Given the description of an element on the screen output the (x, y) to click on. 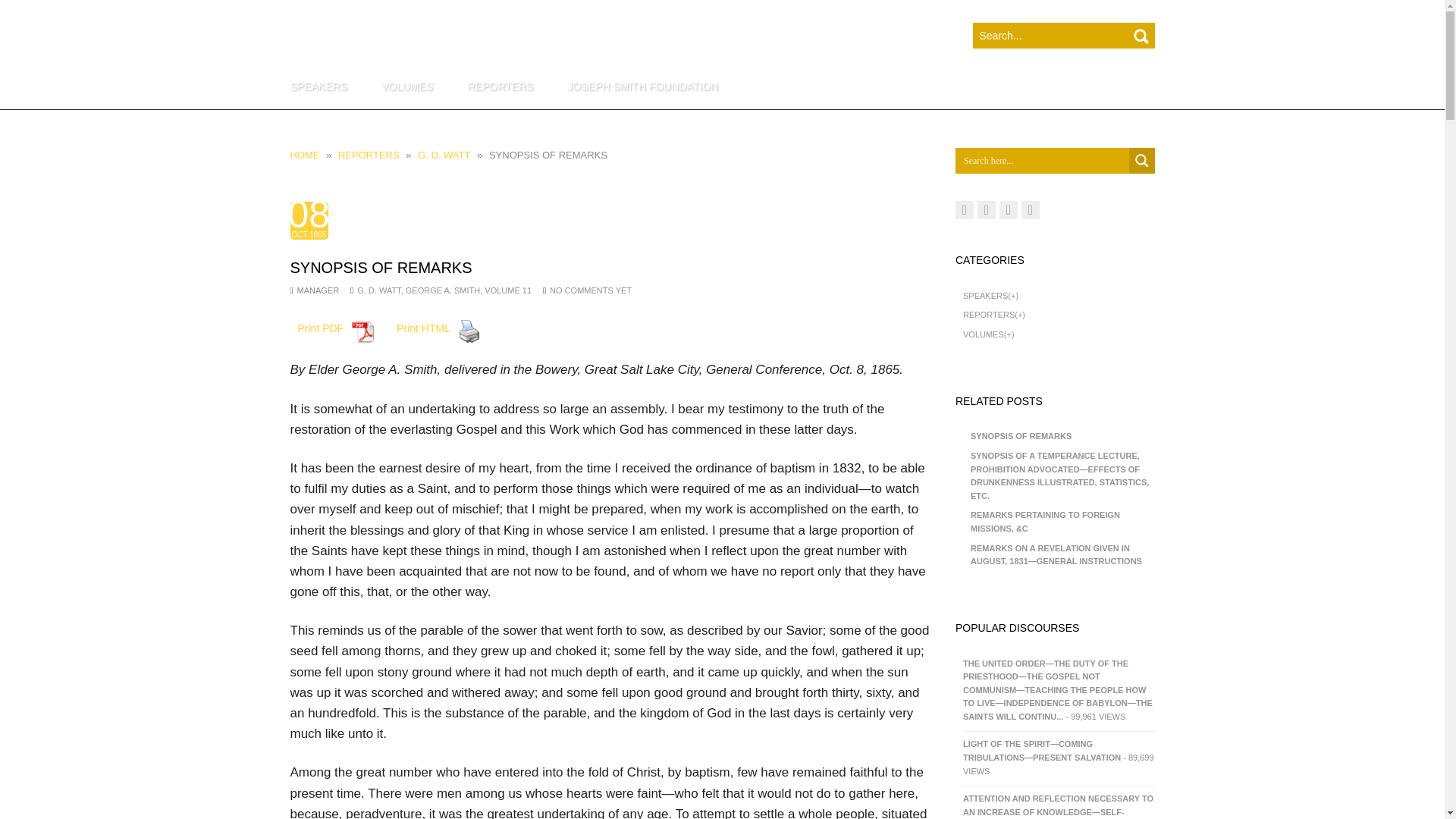
View PDF (362, 331)
JOSEPH SMITH FOUNDATION (642, 86)
Print Content (469, 331)
Print HTML (438, 335)
REPORTERS (367, 154)
Print PDF (336, 335)
VOLUMES (407, 86)
GEORGE A. SMITH (443, 289)
G. D. WATT (443, 154)
NO COMMENTS YET (590, 289)
REPORTERS (499, 86)
G. D. WATT (378, 289)
HOME (303, 154)
SPEAKERS (325, 86)
JOURNAL OF DISCOURSES ONLINE (488, 42)
